Given the description of an element on the screen output the (x, y) to click on. 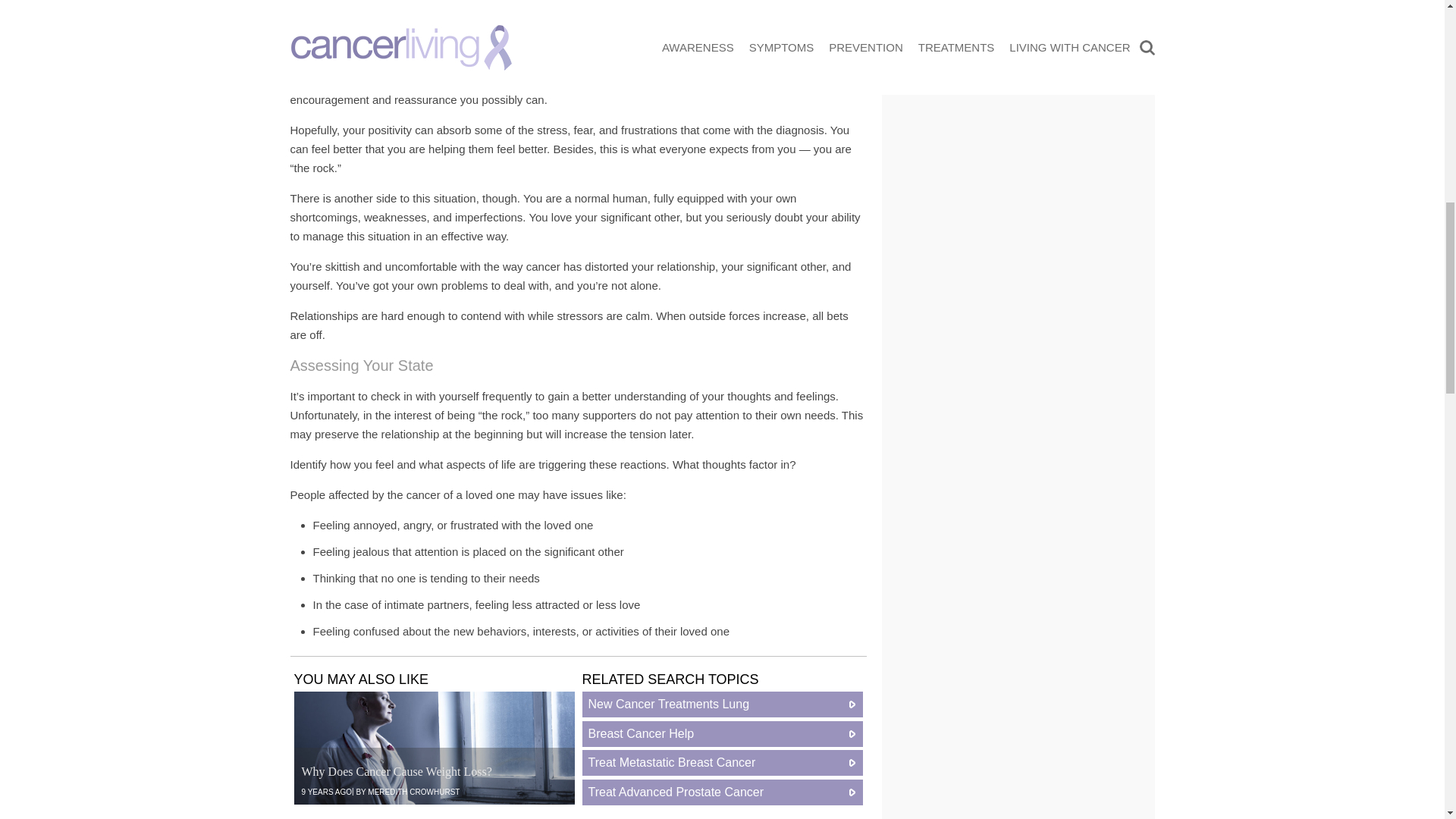
New Cancer Treatments Lung (722, 704)
Breast Cancer Help (722, 733)
Treat Metastatic Breast Cancer (722, 762)
Treat Advanced Prostate Cancer (722, 792)
Why Does Cancer Cause Weight Loss? (434, 747)
Why Does Cancer Cause Weight Loss? (396, 771)
MEREDITH CROWHURST (414, 792)
Advertisement (752, 8)
